Given the description of an element on the screen output the (x, y) to click on. 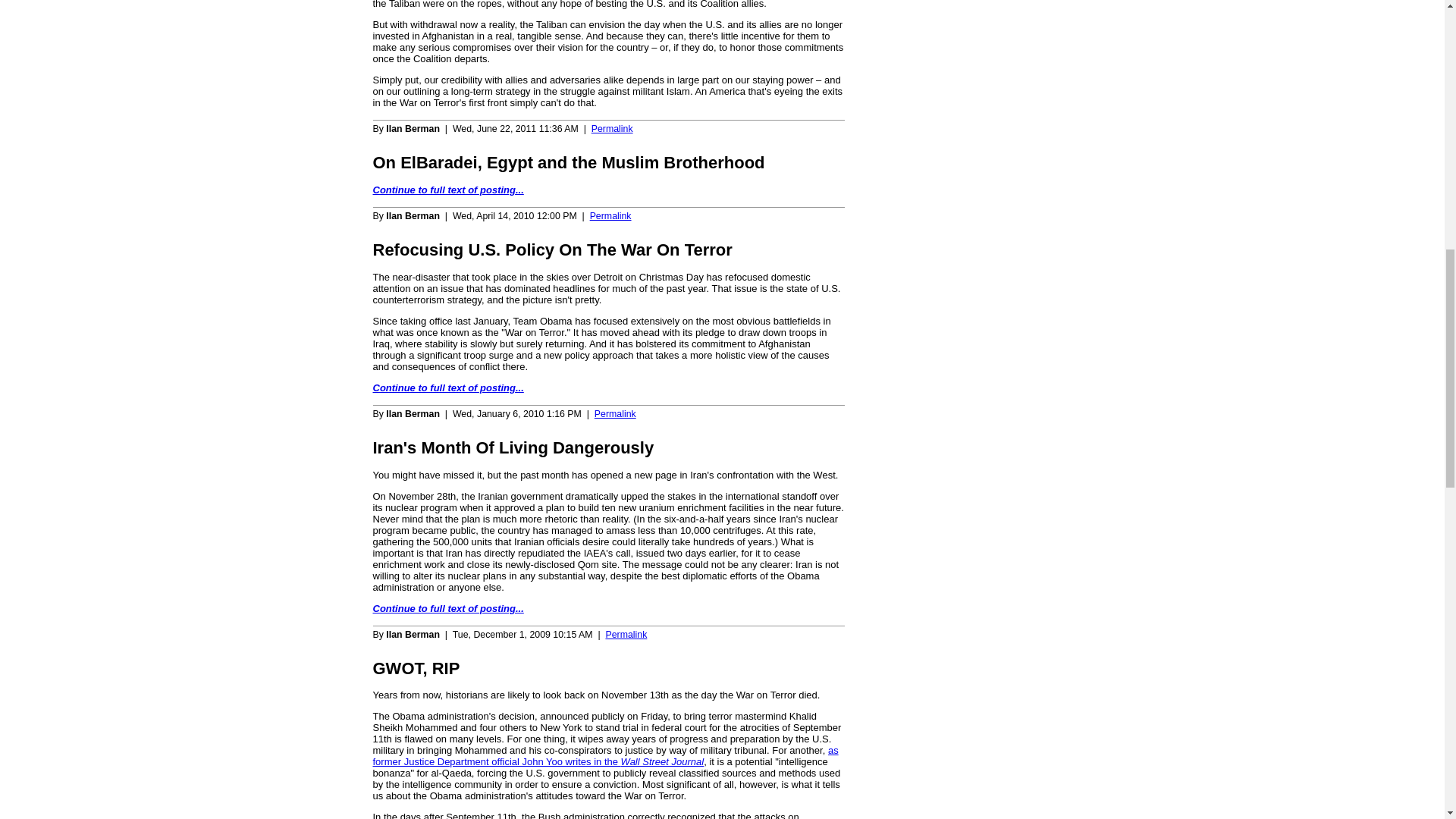
Continue to full text of posting... (448, 387)
Continue to full text of posting... (448, 608)
Continue to full text of posting... (448, 189)
Permalink (610, 215)
Refocusing U.S. Policy On The War On Terror (552, 249)
Iran's Month Of Living Dangerously (512, 447)
On ElBaradei, Egypt and the Muslim Brotherhood (568, 162)
Permalink (615, 413)
Permalink (625, 634)
Permalink (612, 128)
